Given the description of an element on the screen output the (x, y) to click on. 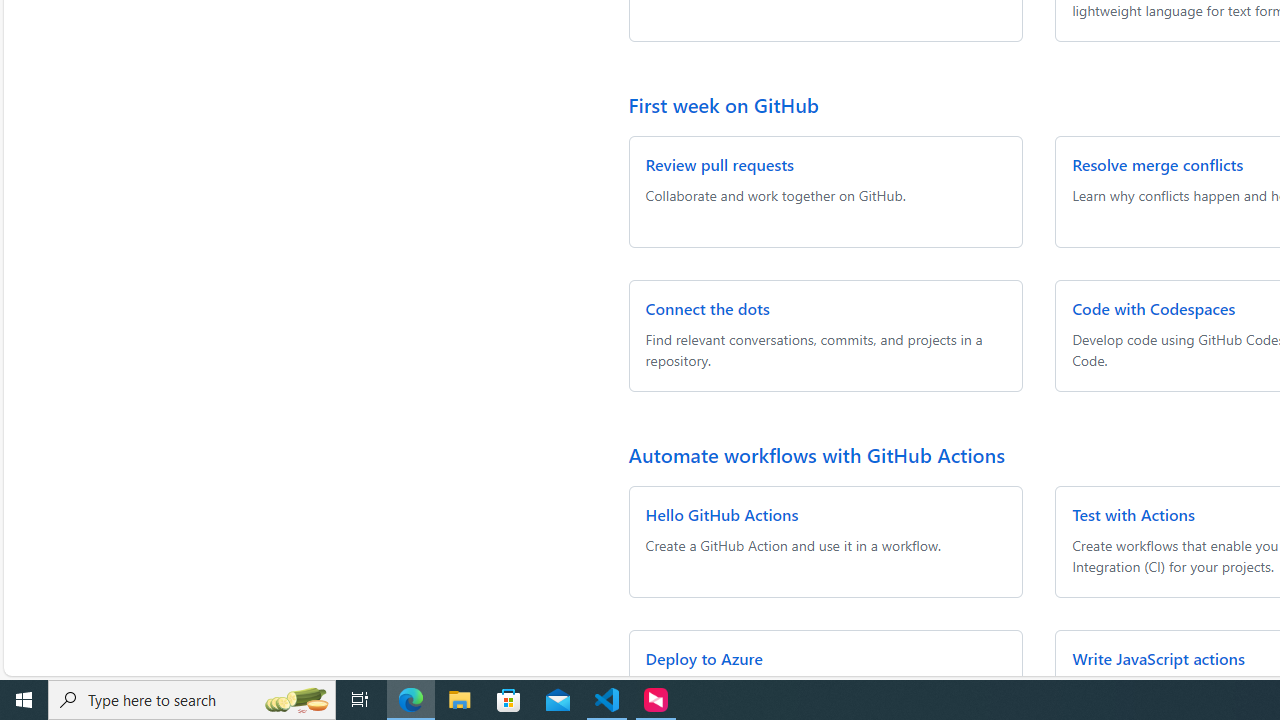
Write JavaScript actions (1158, 658)
Test with Actions (1133, 513)
First week on GitHub (723, 104)
Review pull requests (719, 164)
Resolve merge conflicts (1158, 164)
Deploy to Azure (703, 658)
Hello GitHub Actions (721, 513)
Connect the dots (707, 308)
Automate workflows with GitHub Actions (816, 454)
Code with Codespaces (1154, 308)
